Given the description of an element on the screen output the (x, y) to click on. 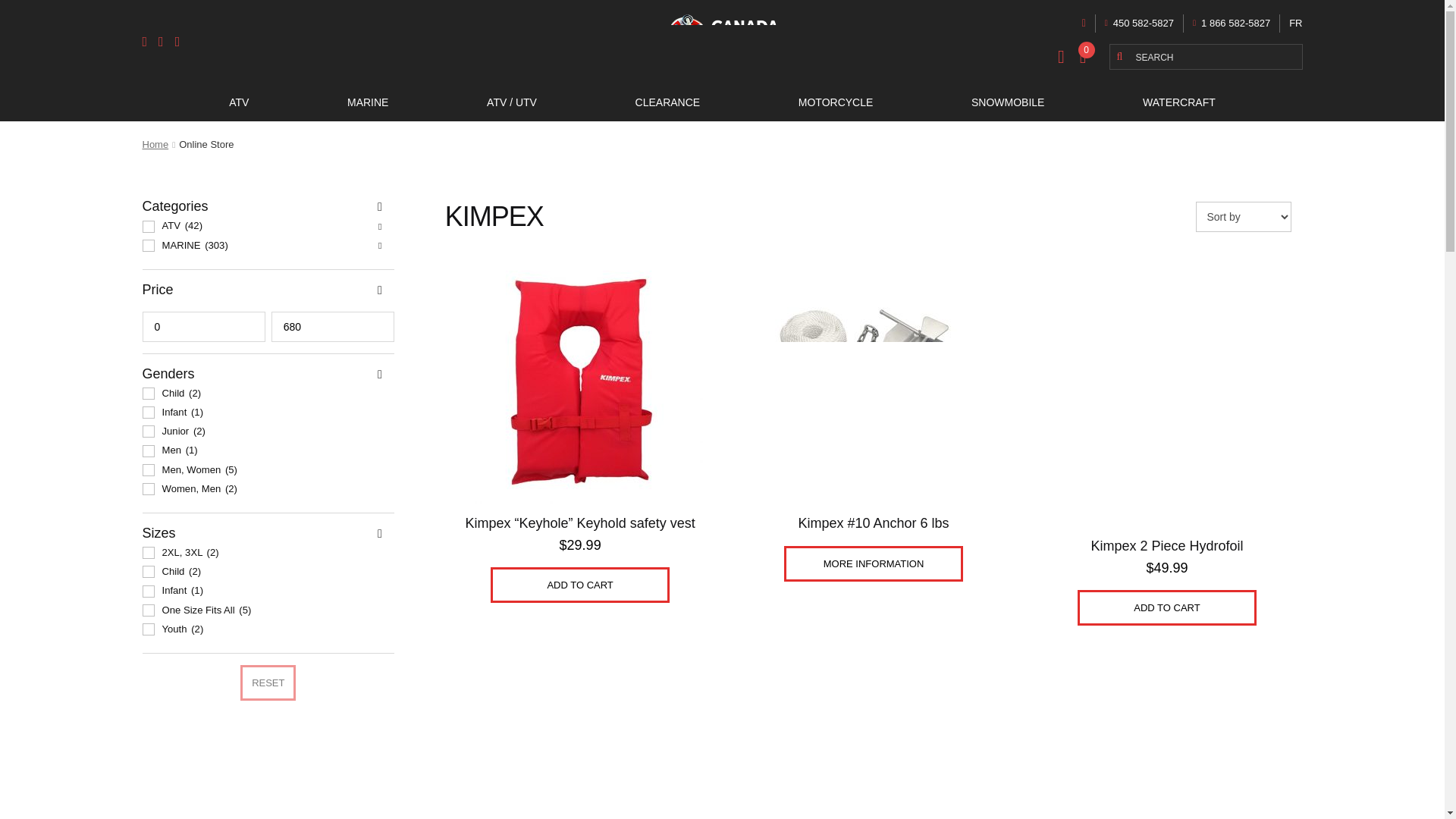
680 (332, 327)
ATV (238, 102)
450 582-5827 (1139, 22)
FR (1294, 23)
1 866 582-5827 (1230, 22)
Aqua Services (721, 41)
0 (203, 327)
